Given the description of an element on the screen output the (x, y) to click on. 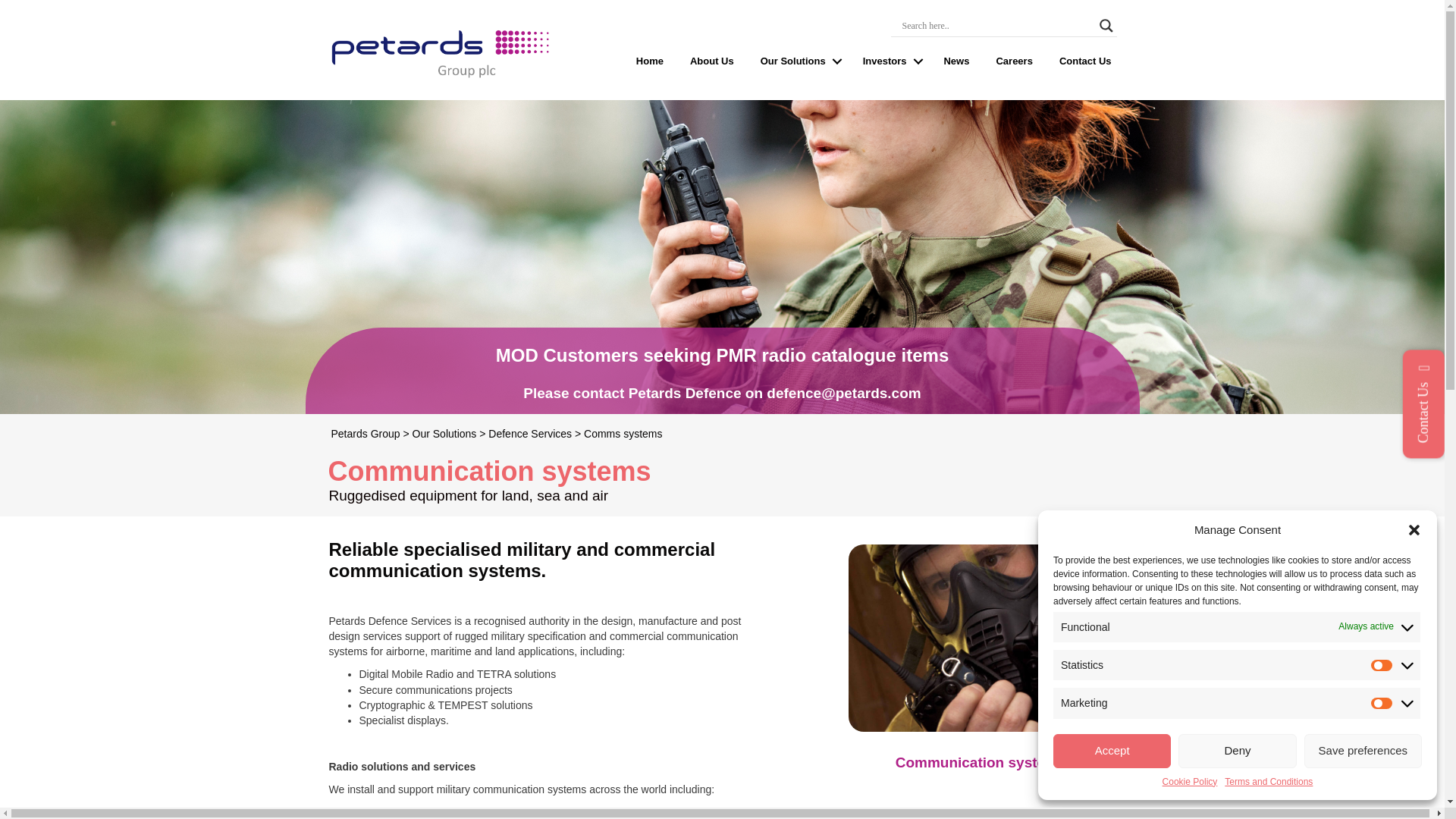
Investors (890, 60)
Save preferences (1363, 750)
Terms and Conditions (1268, 781)
Cookie Policy (1189, 781)
Our Solutions (798, 60)
About Us (711, 60)
Home (650, 60)
Deny (1236, 750)
Accept (1111, 750)
